Given the description of an element on the screen output the (x, y) to click on. 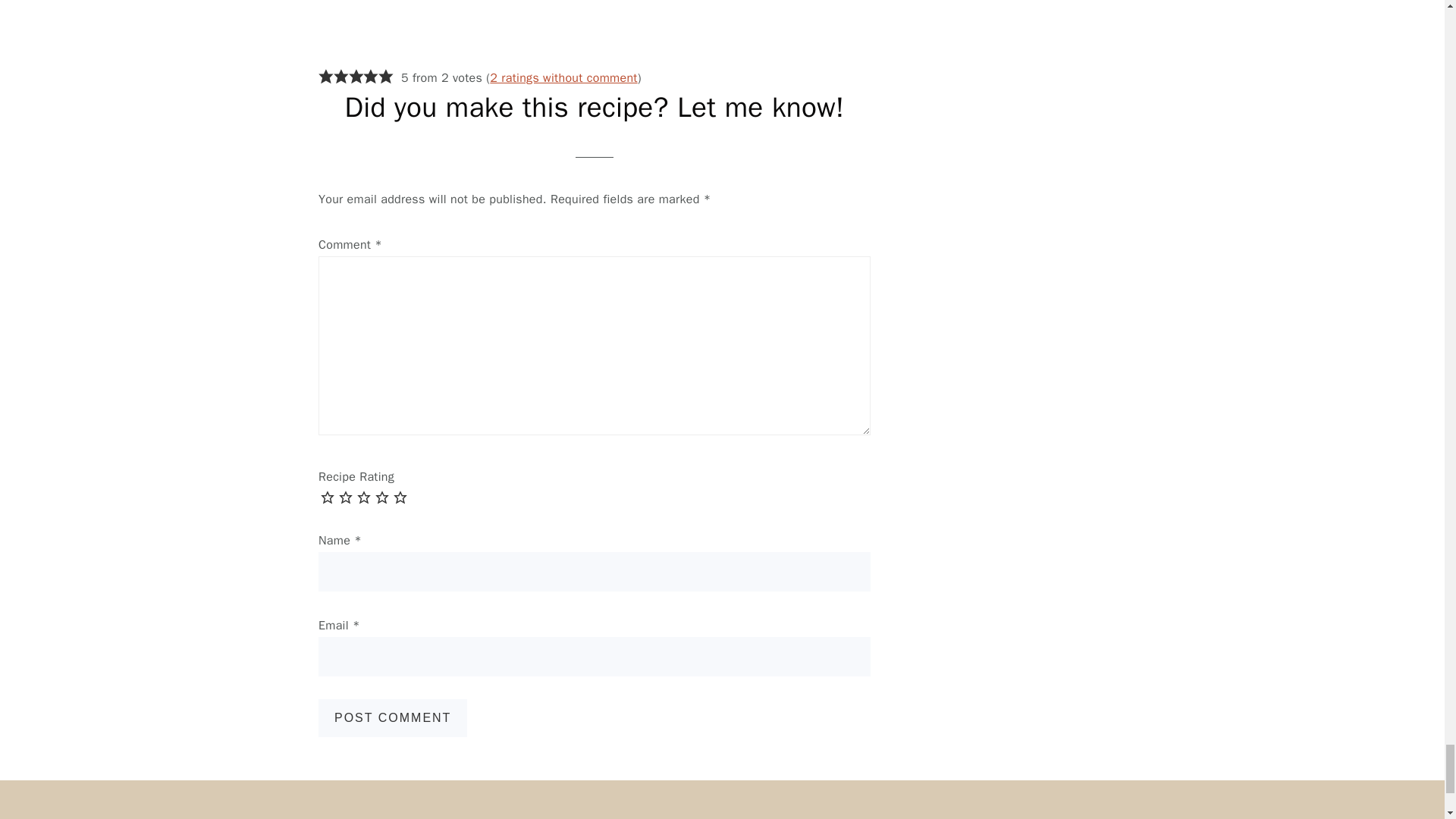
Post Comment (392, 718)
